Given the description of an element on the screen output the (x, y) to click on. 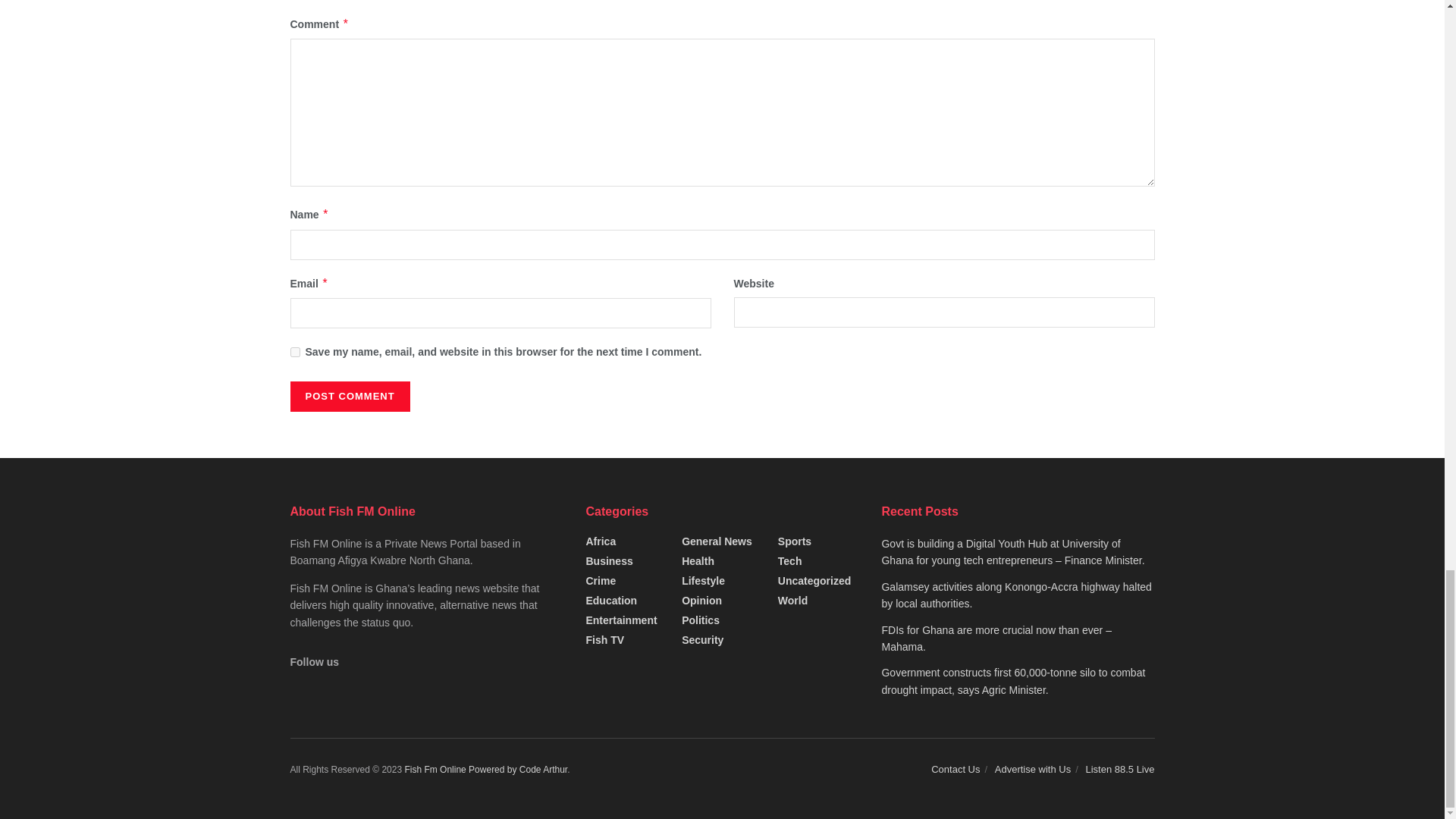
yes (294, 352)
Fish Fm Online (436, 769)
Post Comment (349, 396)
